Given the description of an element on the screen output the (x, y) to click on. 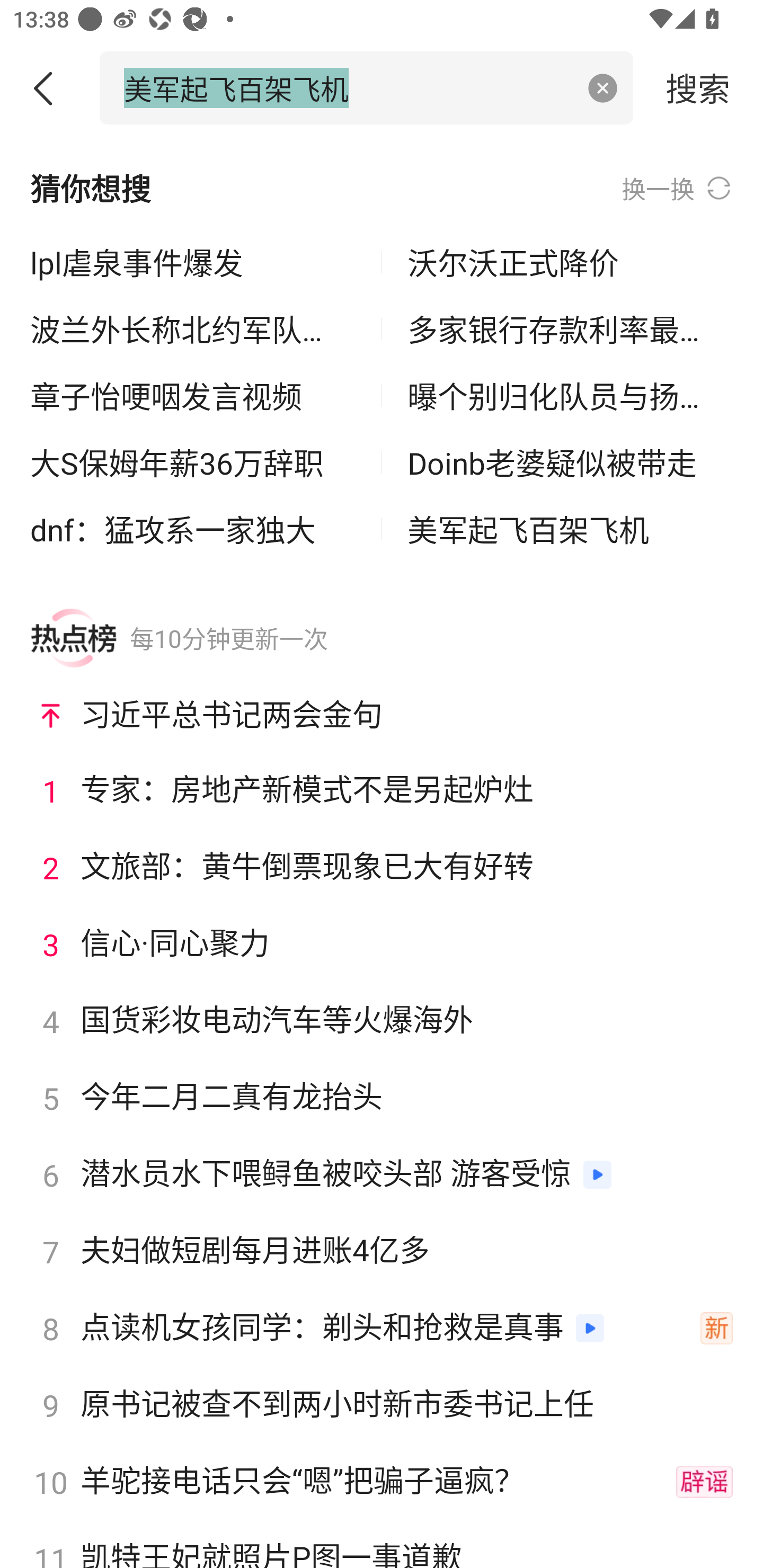
返回 (49, 87)
搜索 (698, 87)
美军起飞百架飞机 (347, 87)
清空 (602, 88)
换一换 (676, 187)
lpl虐泉事件爆发 (193, 262)
沃尔沃正式降价 (569, 262)
波兰外长称北约军队已抵达乌克兰 (193, 329)
多家银行存款利率最高达10% (569, 329)
章子怡哽咽发言视频 (193, 395)
曝个别归化队员与扬科维奇关系破裂 (569, 395)
大S保姆年薪36万辞职 (193, 462)
Doinb老婆疑似被带走 (569, 462)
dnf：猛攻系一家独大 (193, 528)
美军起飞百架飞机 (569, 528)
